Given the description of an element on the screen output the (x, y) to click on. 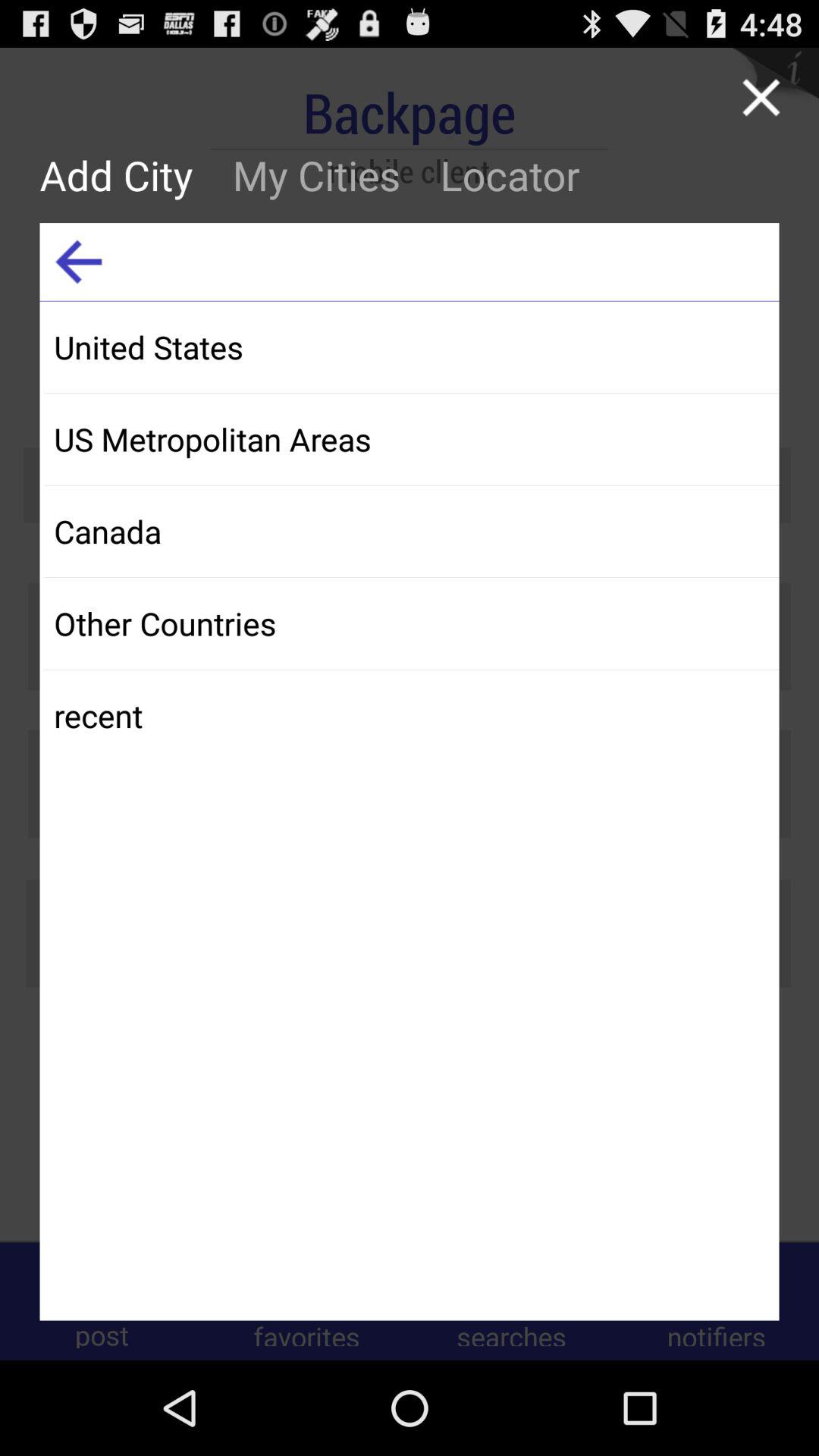
press the item below add city (78, 261)
